Given the description of an element on the screen output the (x, y) to click on. 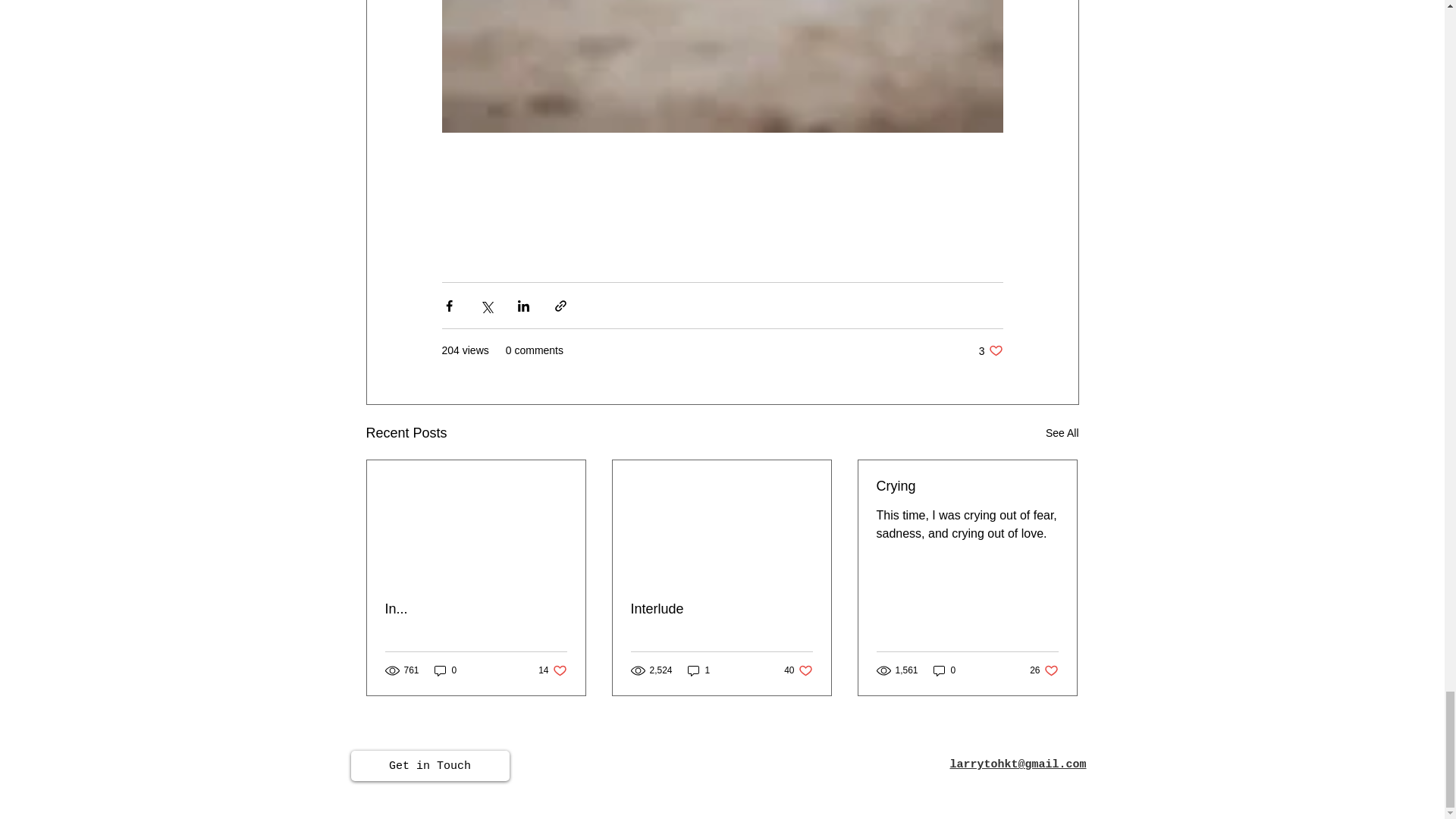
1 (698, 670)
See All (1061, 433)
0 (445, 670)
Interlude (552, 670)
Get in Touch (1043, 670)
Crying (990, 350)
0 (721, 609)
